Given the description of an element on the screen output the (x, y) to click on. 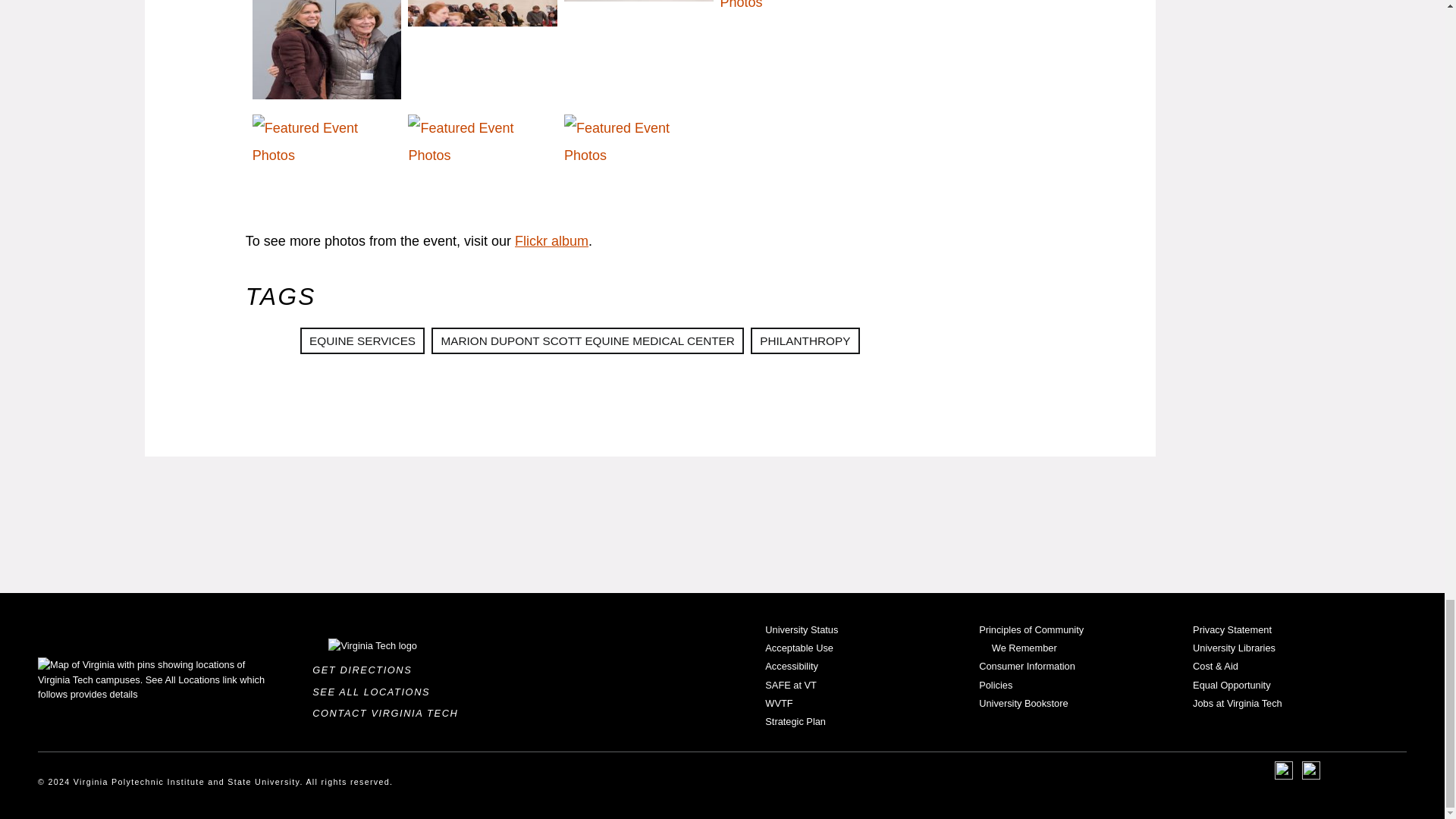
Featured Event Photos:  (635, 53)
Featured Event Photos:  (323, 53)
Featured Event Photos:  (479, 53)
